Given the description of an element on the screen output the (x, y) to click on. 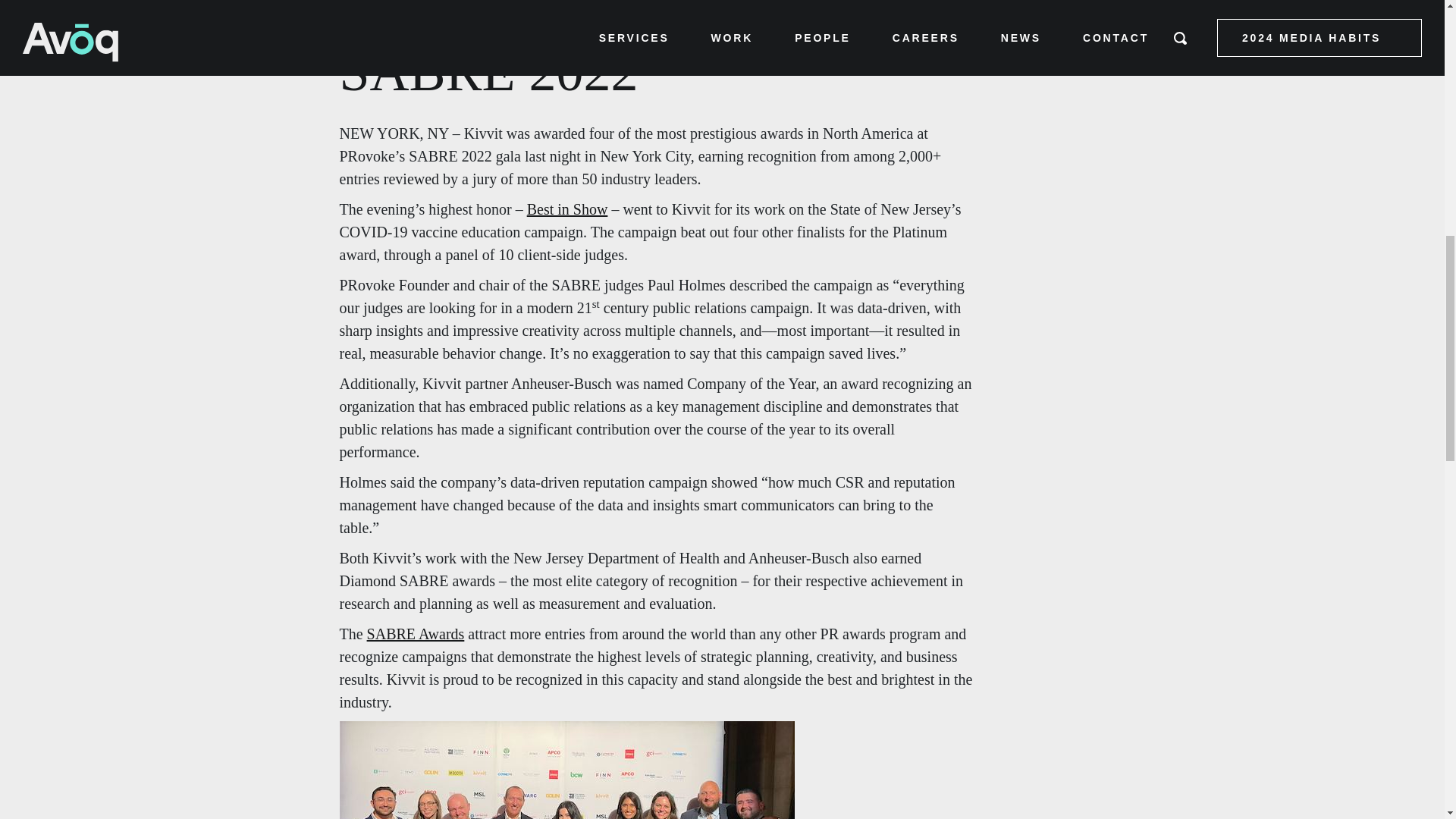
SABRE Awards (415, 633)
Best in Show (567, 208)
